Given the description of an element on the screen output the (x, y) to click on. 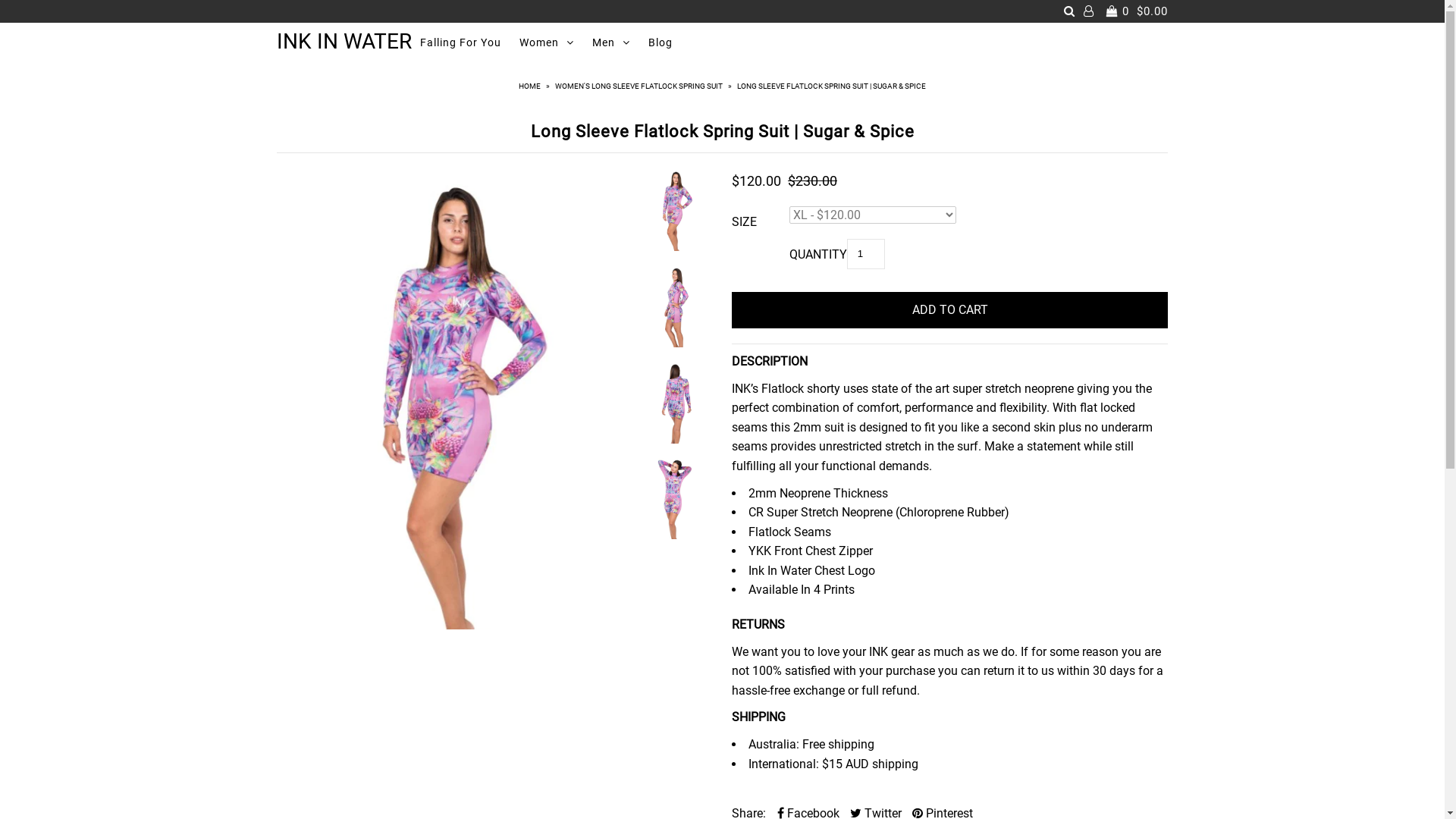
Add to Cart Element type: text (949, 309)
Long Sleeve Flatlock Spring Suit | Sugar & Spice Element type: hover (458, 398)
Falling For You Element type: text (460, 42)
INK IN WATER Element type: text (343, 41)
Men Element type: text (610, 42)
WOMEN'S LONG SLEEVE FLATLOCK SPRING SUIT Element type: text (640, 85)
Women Element type: text (546, 42)
Blog Element type: text (660, 42)
  0  $0.00 Element type: text (1134, 11)
HOME Element type: text (531, 85)
